Given the description of an element on the screen output the (x, y) to click on. 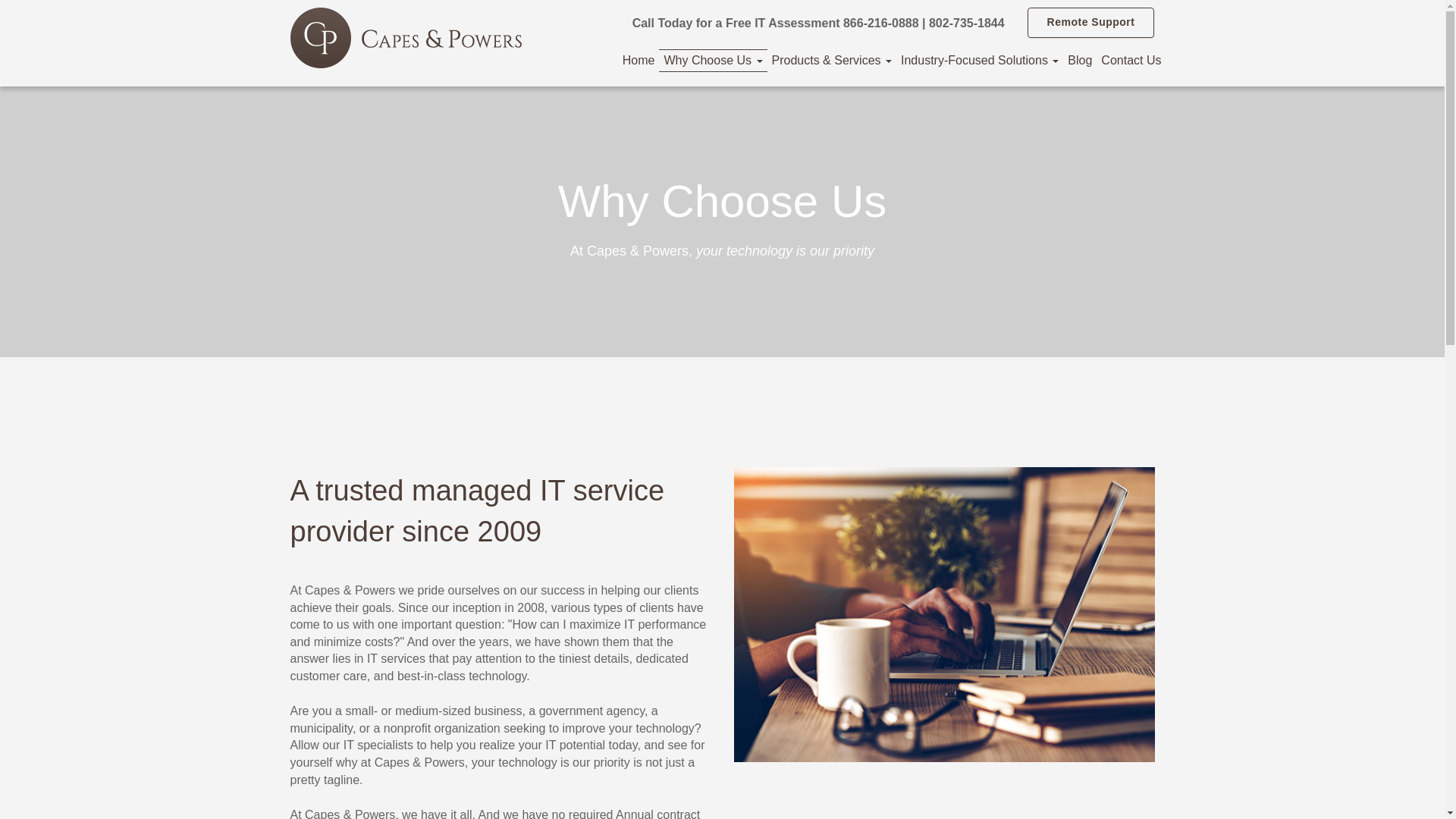
Contact Us (1131, 60)
Home (638, 60)
Blog (1079, 60)
Industry-Focused Solutions (979, 60)
Remote Support (1090, 22)
Why Choose Us (713, 60)
